Given the description of an element on the screen output the (x, y) to click on. 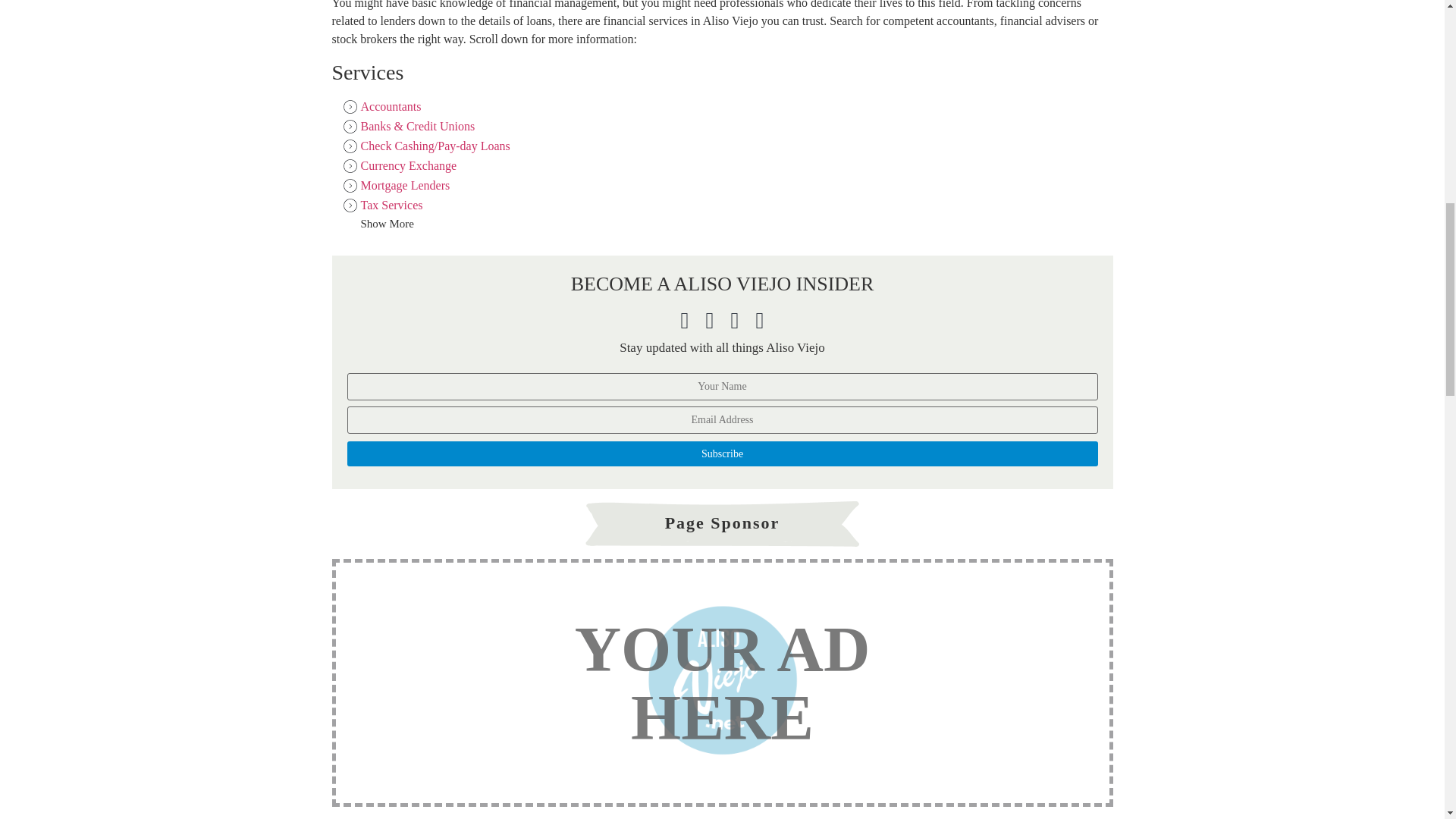
Tax Services (382, 205)
Mortgage Lenders (395, 185)
Currency Exchange (399, 164)
Accountants (381, 106)
Subscribe (722, 453)
